Given the description of an element on the screen output the (x, y) to click on. 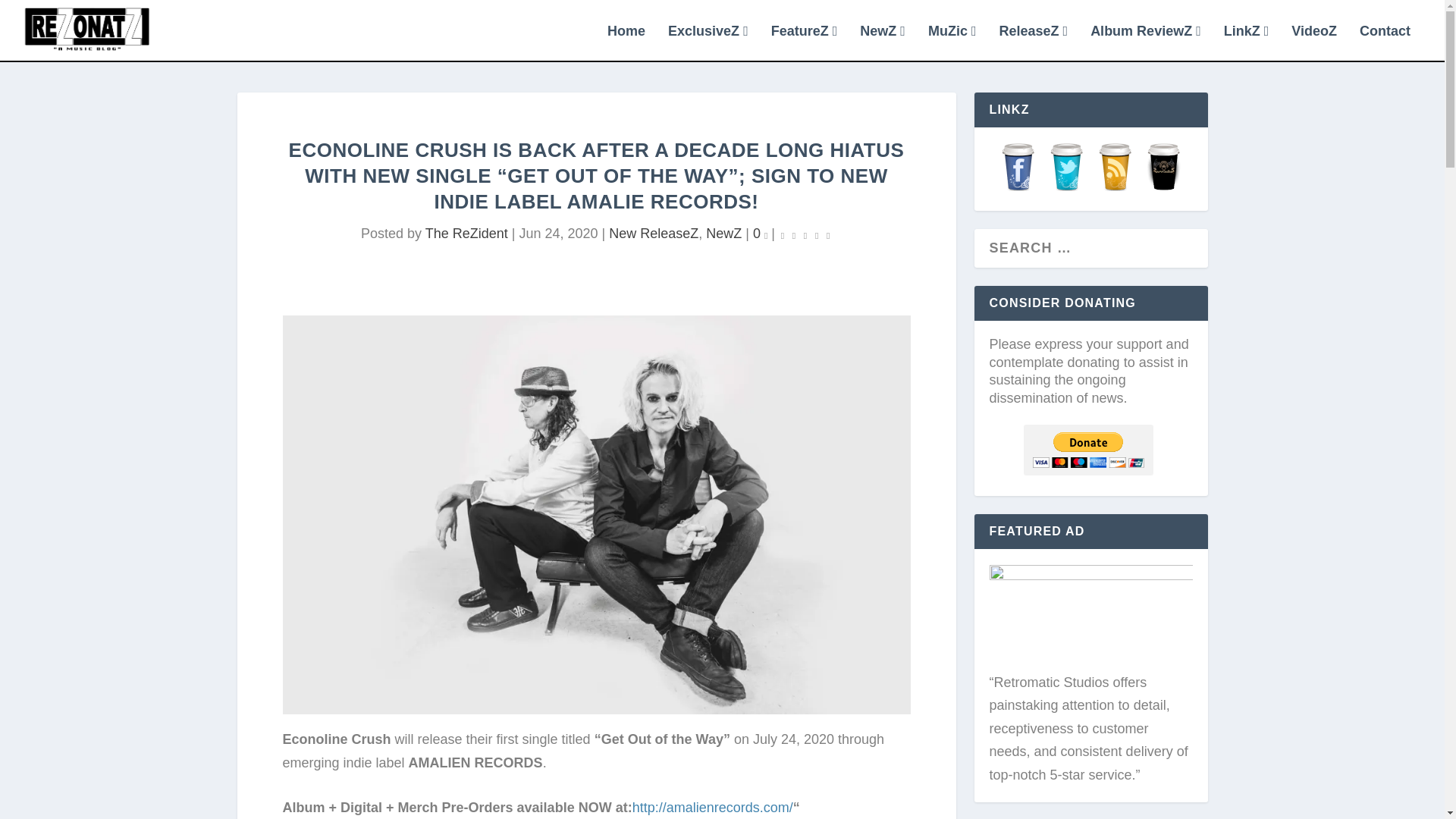
Home (626, 42)
FeatureZ (804, 42)
Contact (1384, 42)
Posts by The ReZident (466, 233)
LinkZ (1246, 42)
NewZ (882, 42)
VideoZ (1313, 42)
MuZic (952, 42)
Album ReviewZ (1145, 42)
ExclusiveZ (708, 42)
New ReleaseZ (653, 233)
The ReZident (466, 233)
NewZ (723, 233)
ReleaseZ (1032, 42)
Rating: 0.00 (804, 234)
